Given the description of an element on the screen output the (x, y) to click on. 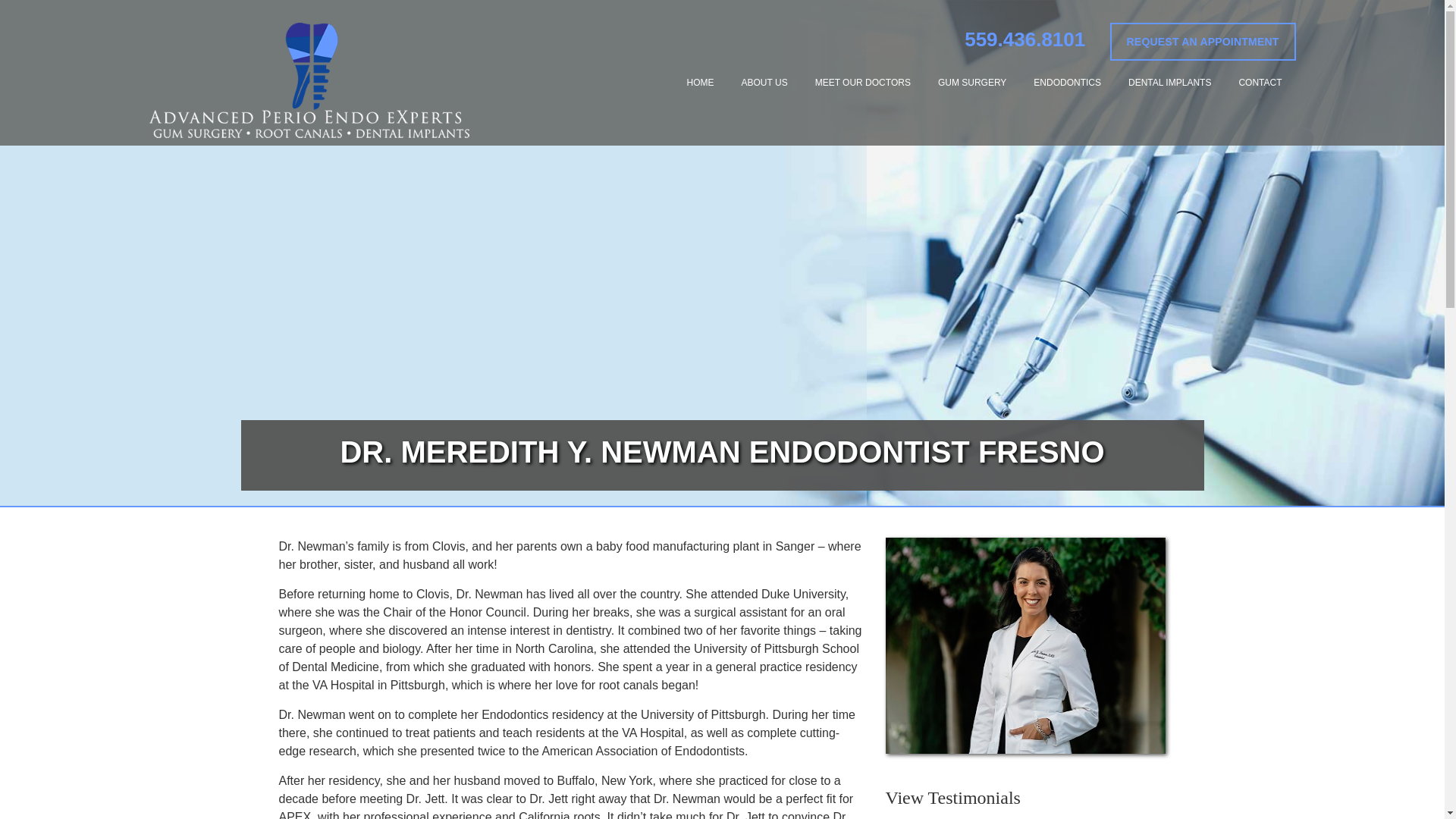
559.436.8101 (1023, 38)
HOME (700, 82)
GUM SURGERY (971, 82)
REQUEST AN APPOINTMENT (1202, 41)
ABOUT US (764, 82)
CONTACT (1260, 82)
DENTAL IMPLANTS (1169, 82)
ENDODONTICS (1066, 82)
View Testimonials (1025, 797)
MEET OUR DOCTORS (863, 82)
